Given the description of an element on the screen output the (x, y) to click on. 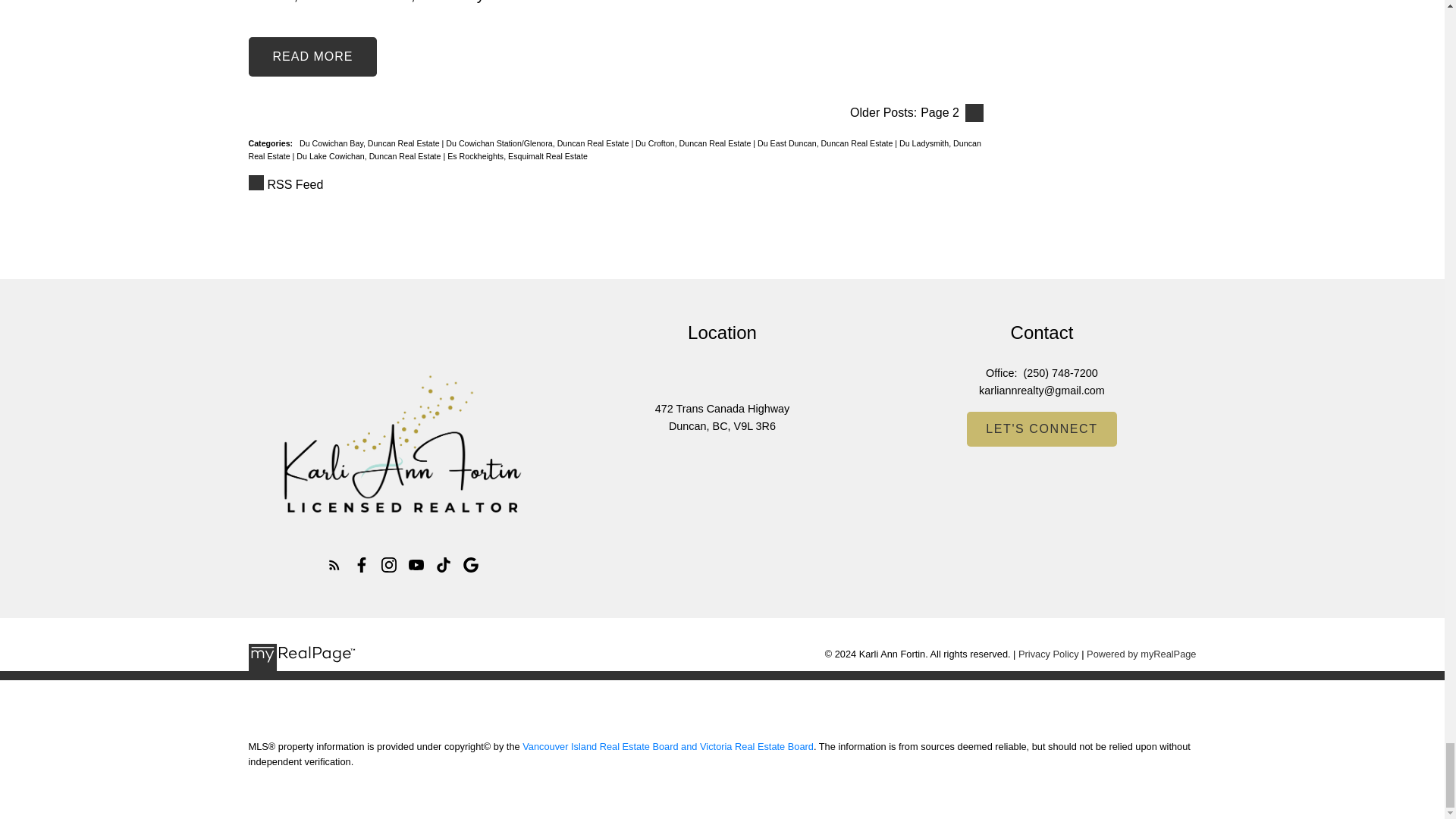
RSS (616, 184)
